Given the description of an element on the screen output the (x, y) to click on. 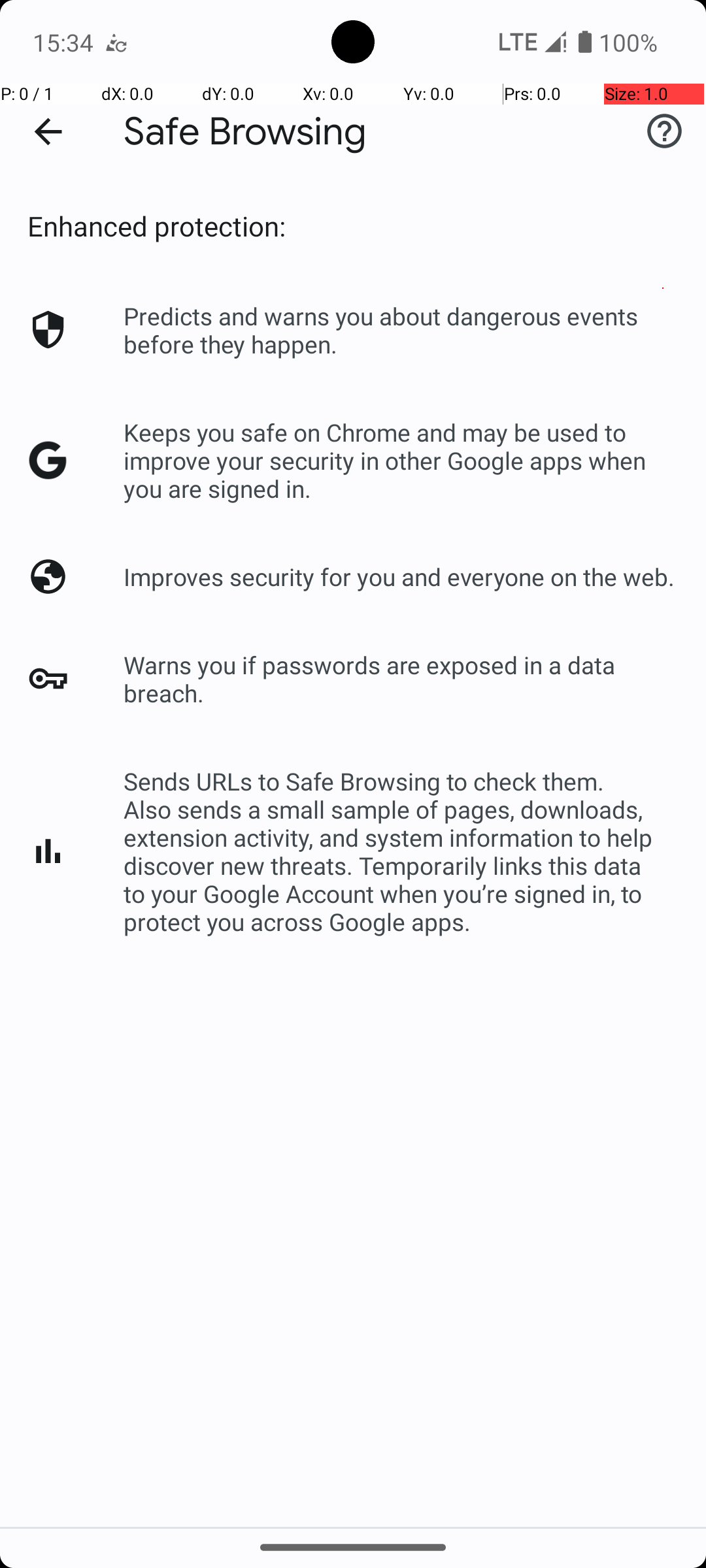
Safe Browsing Element type: android.widget.TextView (244, 131)
Enhanced protection: Element type: android.widget.TextView (156, 225)
Predicts and warns you about dangerous events before they happen. Element type: android.widget.TextView (400, 329)
Keeps you safe on Chrome and may be used to improve your security in other Google apps when you are signed in. Element type: android.widget.TextView (400, 460)
Improves security for you and everyone on the web. Element type: android.widget.TextView (399, 576)
Warns you if passwords are exposed in a data breach. Element type: android.widget.TextView (400, 678)
Sends URLs to Safe Browsing to check them. Also sends a small sample of pages, downloads, extension activity, and system information to help discover new threats. Temporarily links this data to your Google Account when you’re signed in, to protect you across Google apps. Element type: android.widget.TextView (400, 851)
